Given the description of an element on the screen output the (x, y) to click on. 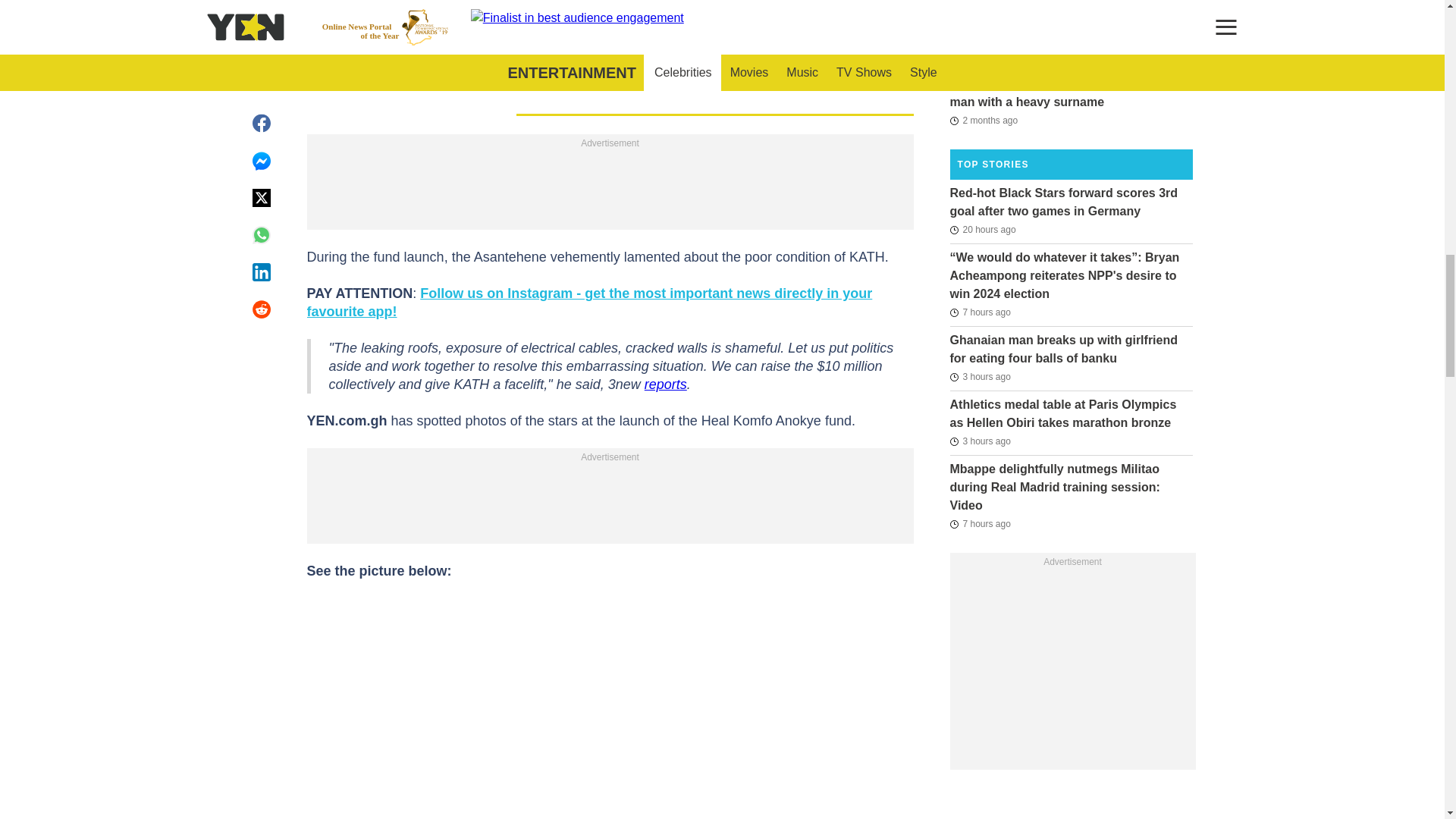
2024-08-11T14:06:19Z (979, 312)
2024-08-11T17:25:23Z (979, 441)
2022-02-01T08:31:08Z (979, 37)
2024-08-11T01:05:02Z (981, 229)
2024-08-11T14:02:26Z (979, 524)
2024-05-16T09:07:51Z (983, 120)
2024-08-11T17:37:02Z (979, 376)
